Given the description of an element on the screen output the (x, y) to click on. 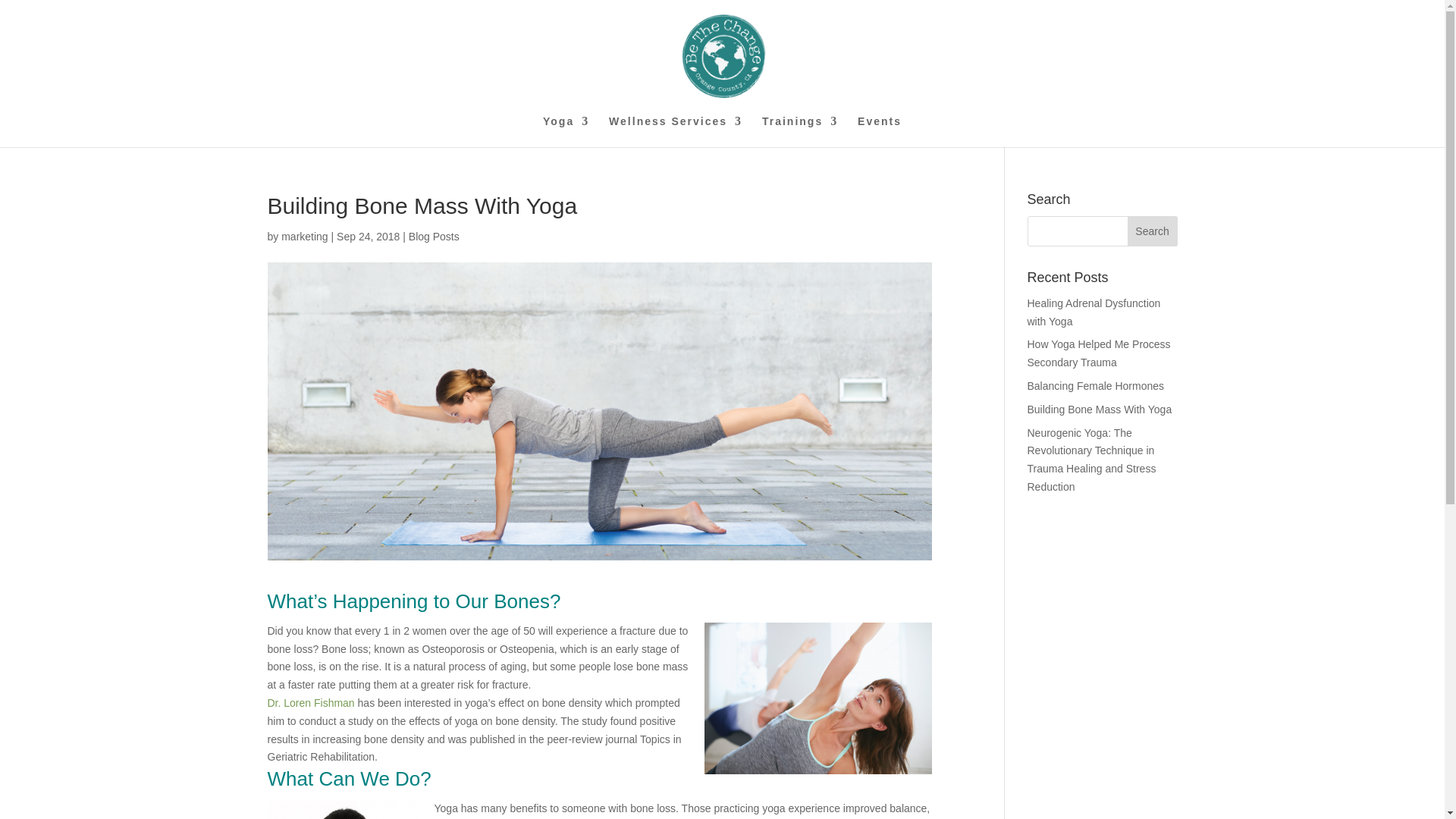
Wellness Services (675, 131)
Posts by marketing (304, 236)
Trainings (799, 131)
Search (1151, 231)
Yoga (566, 131)
Events (879, 131)
